Given the description of an element on the screen output the (x, y) to click on. 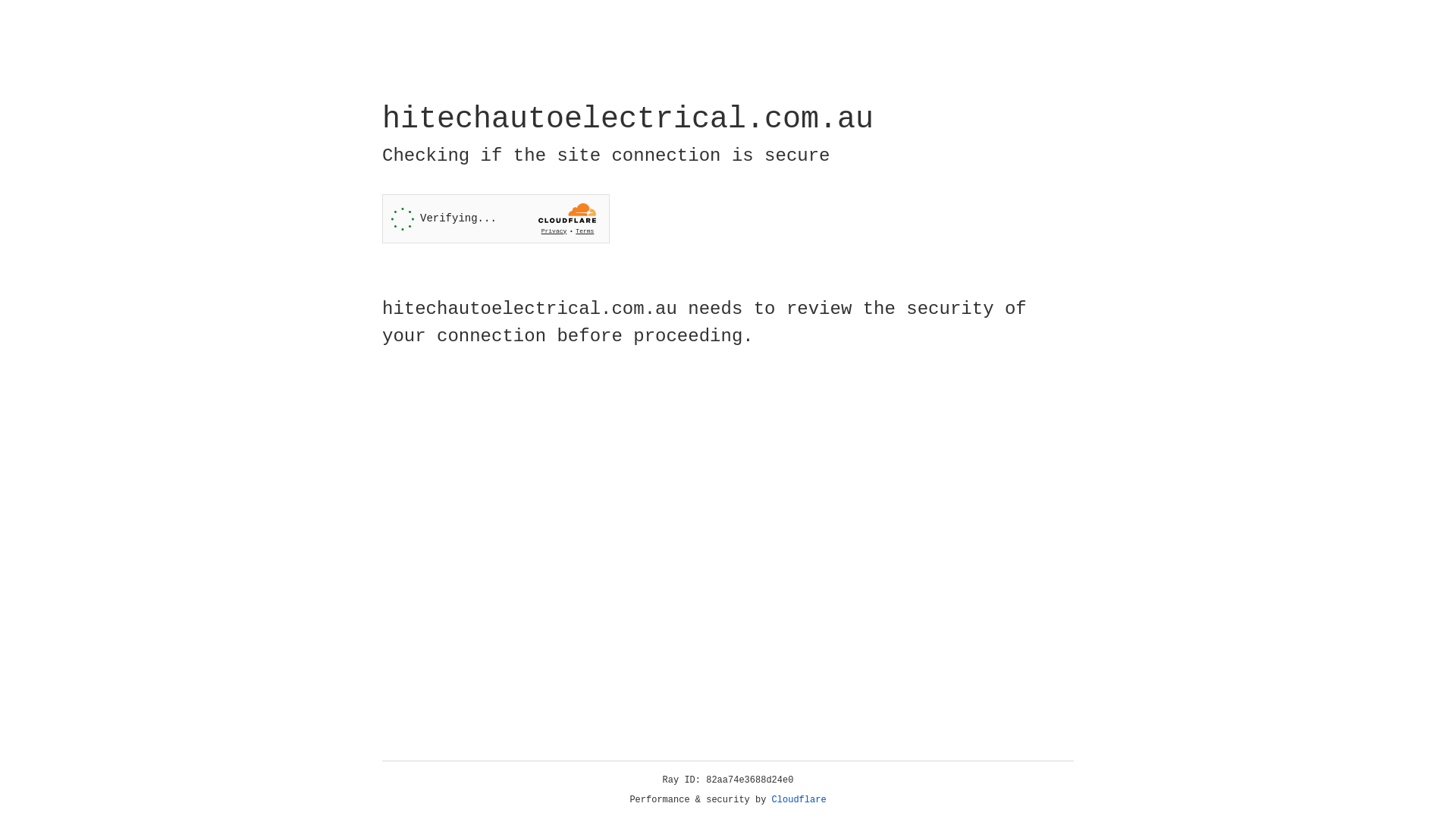
Cloudflare Element type: text (798, 799)
Widget containing a Cloudflare security challenge Element type: hover (495, 218)
